Given the description of an element on the screen output the (x, y) to click on. 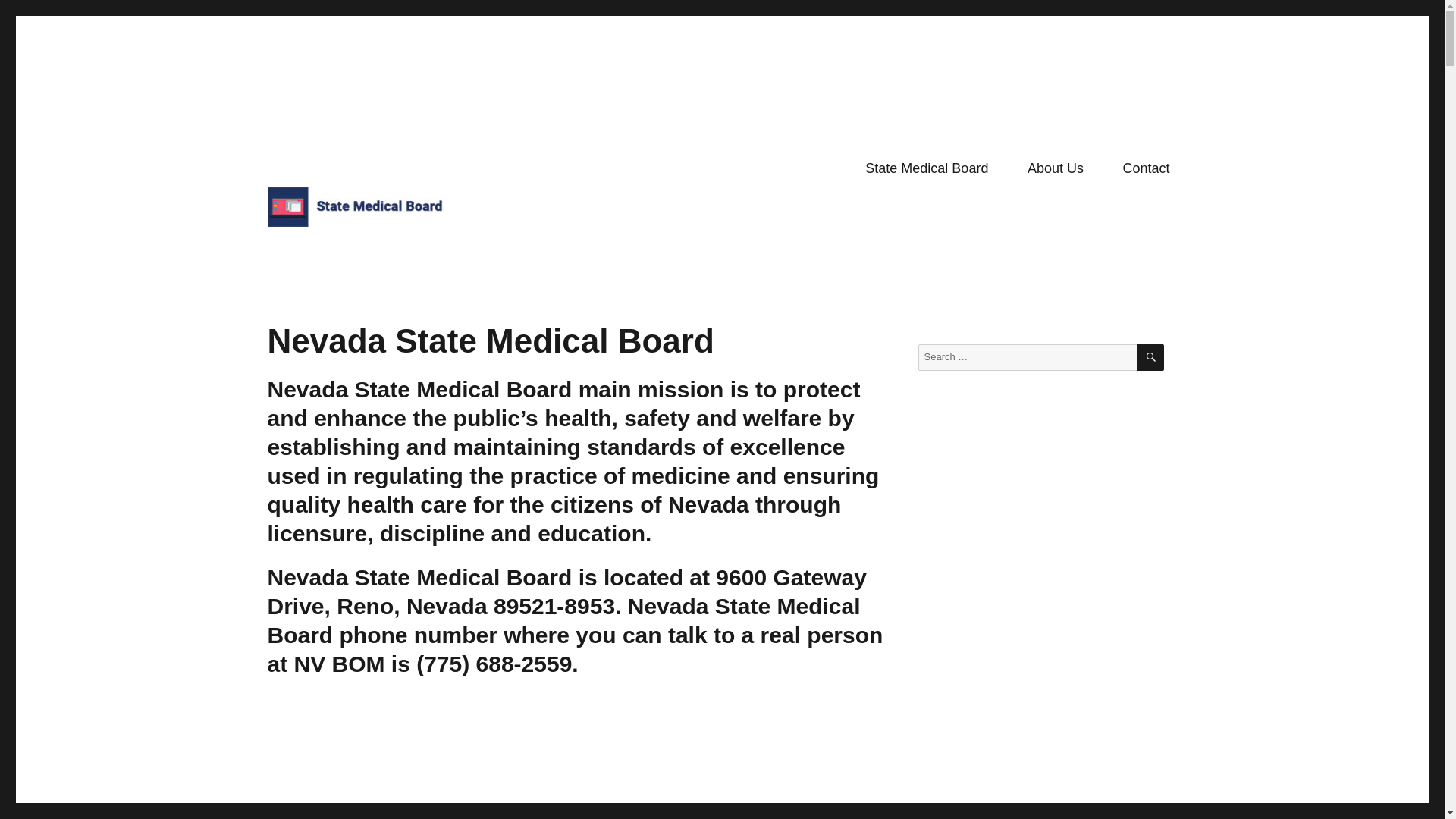
Contact (1146, 168)
State Medical Board (927, 168)
About Us (1055, 168)
State Medical Board (368, 250)
SEARCH (1150, 357)
